Given the description of an element on the screen output the (x, y) to click on. 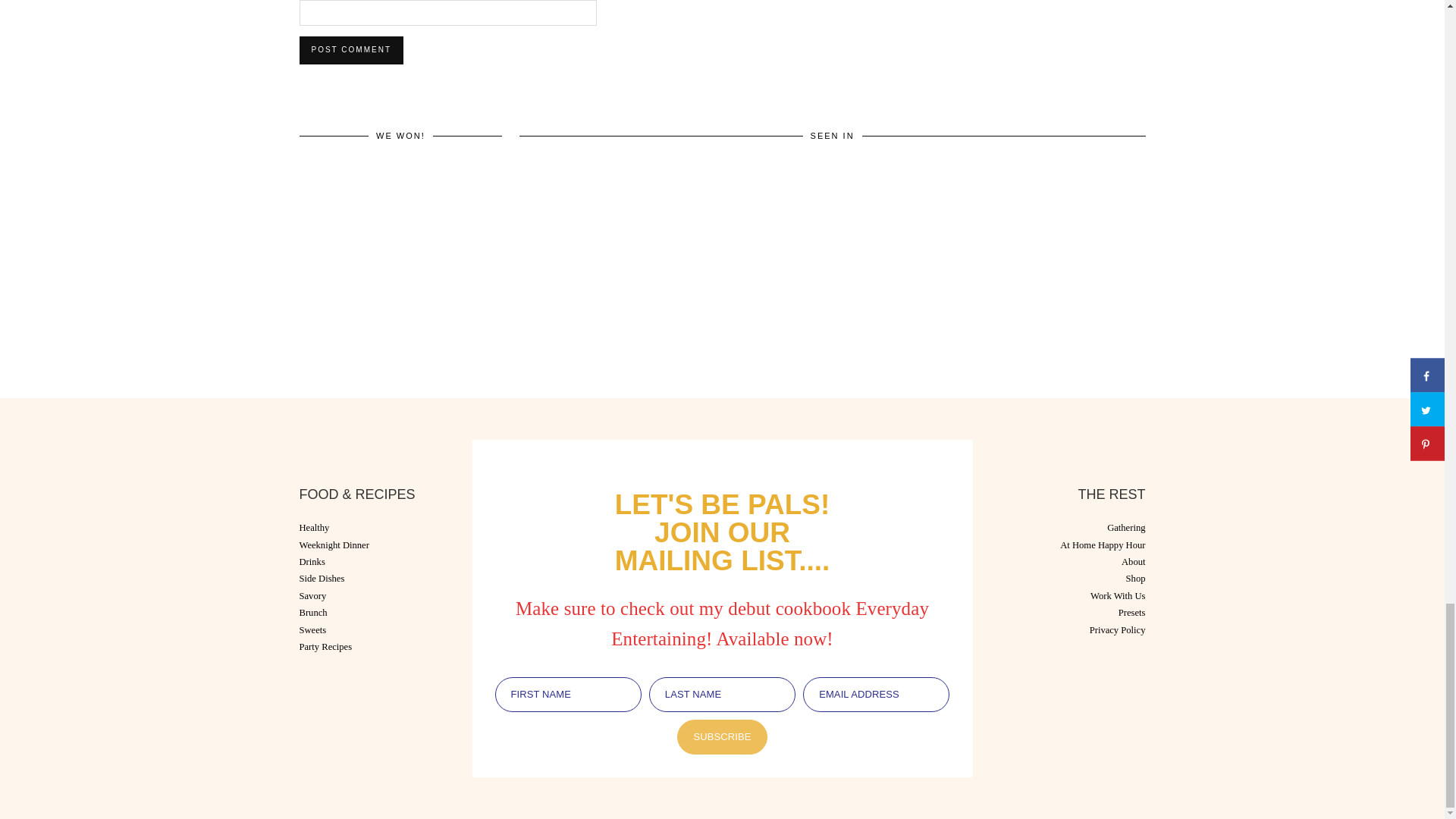
Post Comment (350, 49)
